Given the description of an element on the screen output the (x, y) to click on. 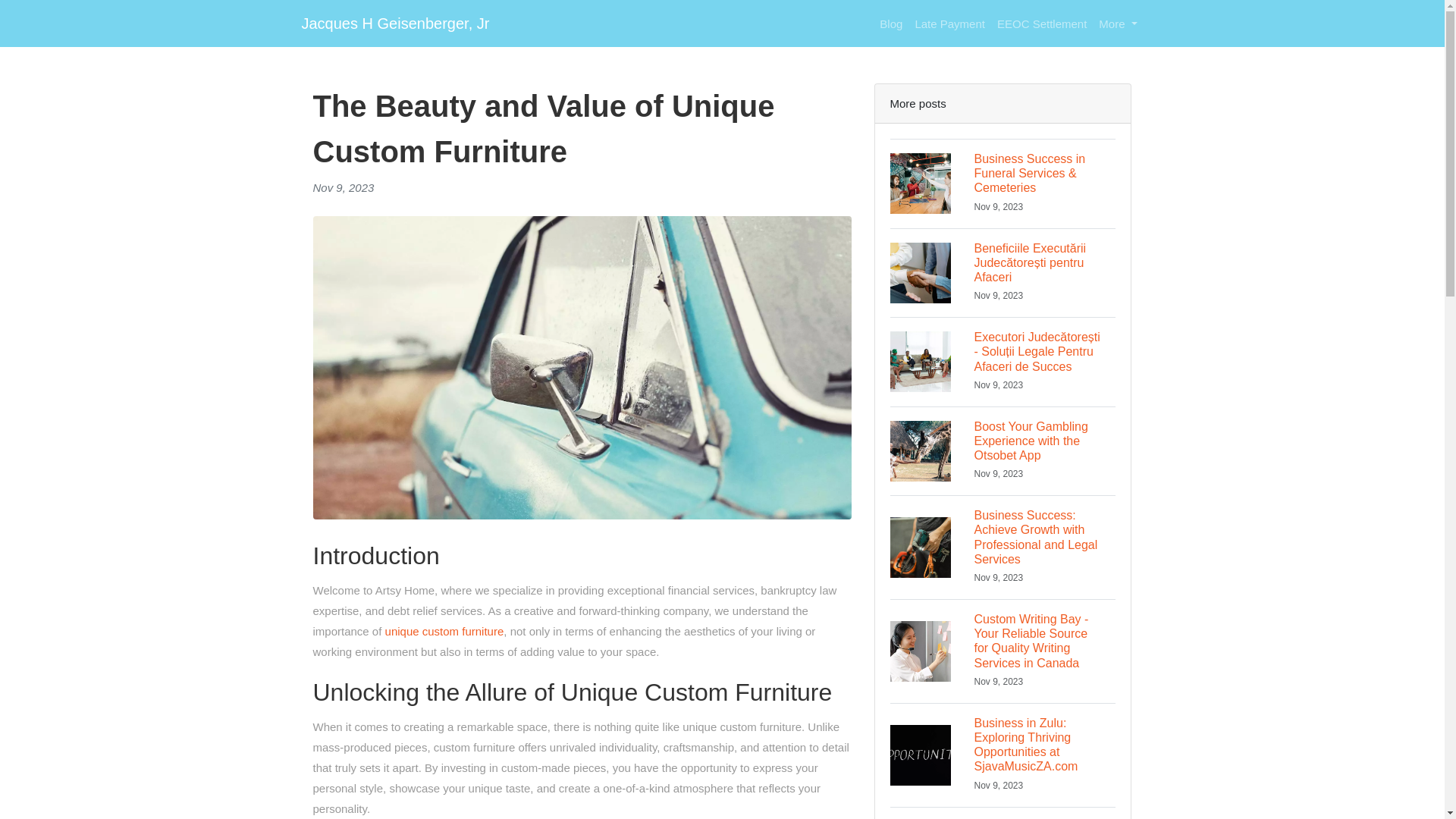
More (1117, 23)
EEOC Settlement (1042, 23)
Blog (890, 23)
unique custom furniture (444, 631)
Jacques H Geisenberger, Jr (395, 22)
